Given the description of an element on the screen output the (x, y) to click on. 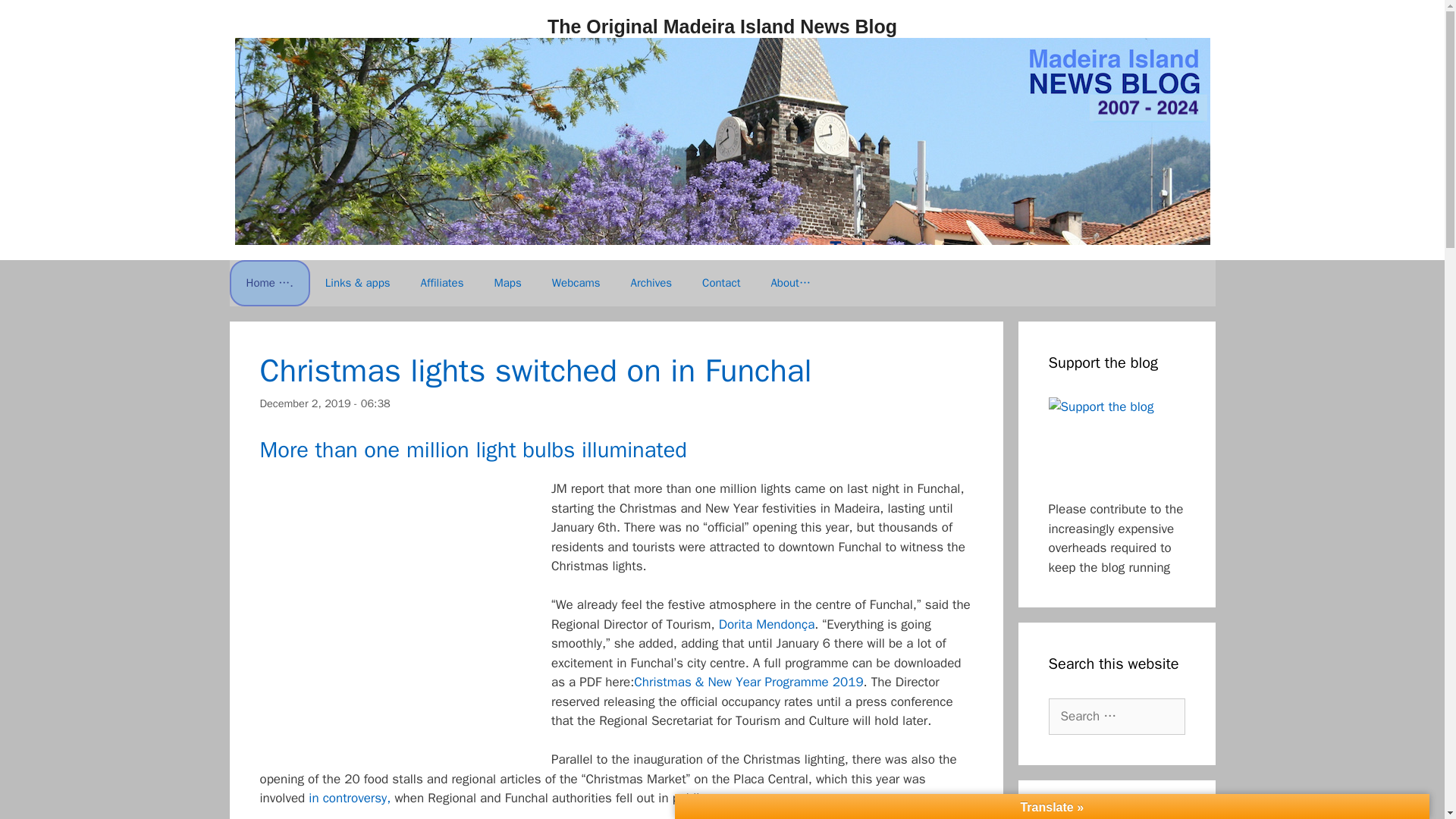
Webcams (576, 282)
Search (35, 18)
Christmas lights switched on in Funchal 1 (395, 615)
Archives (651, 282)
Contact (721, 282)
in controversy, (349, 797)
The Original Madeira Island News Blog (721, 25)
Affiliates (442, 282)
Maps (507, 282)
